Given the description of an element on the screen output the (x, y) to click on. 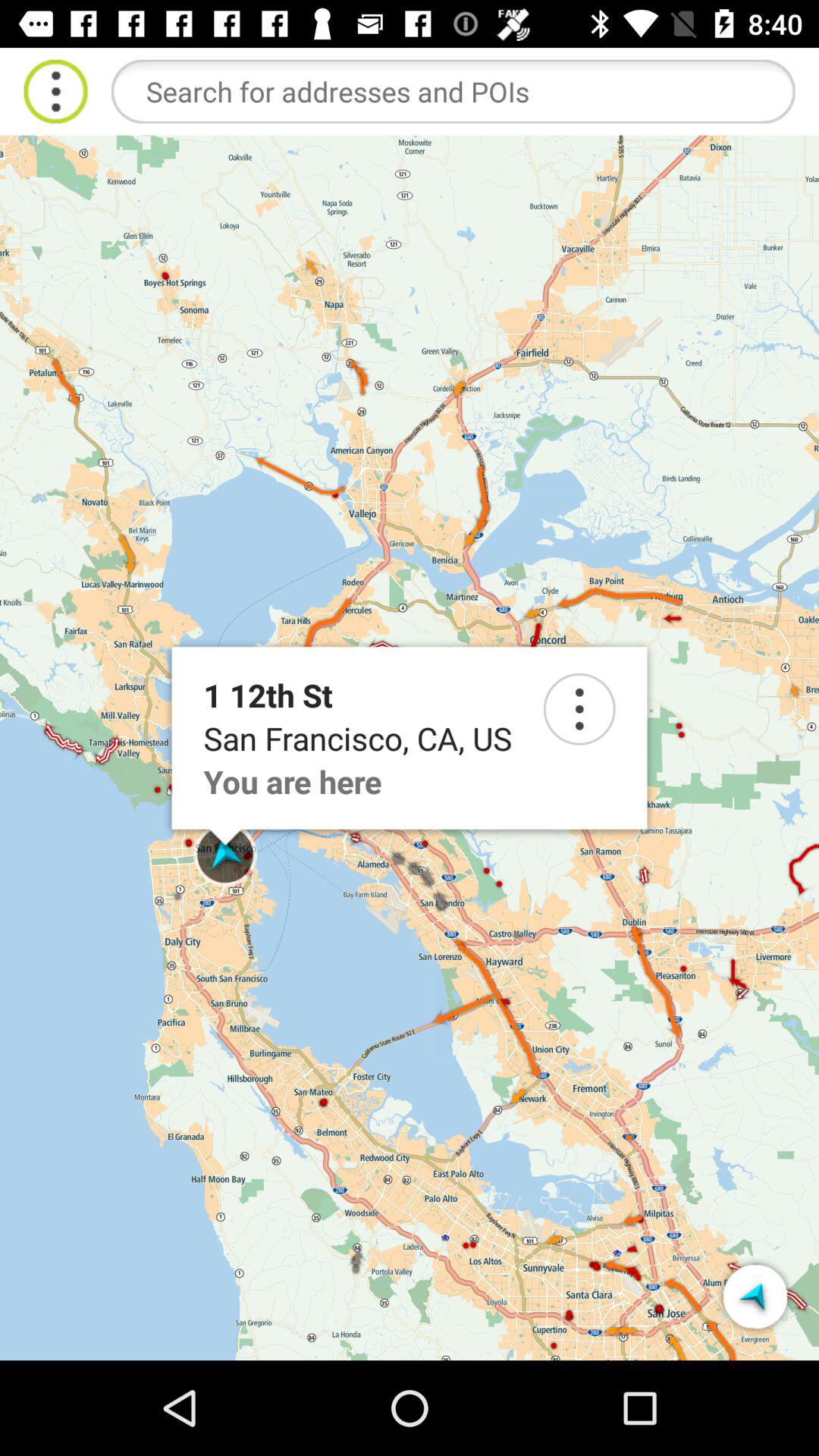
selected button (755, 1296)
